Given the description of an element on the screen output the (x, y) to click on. 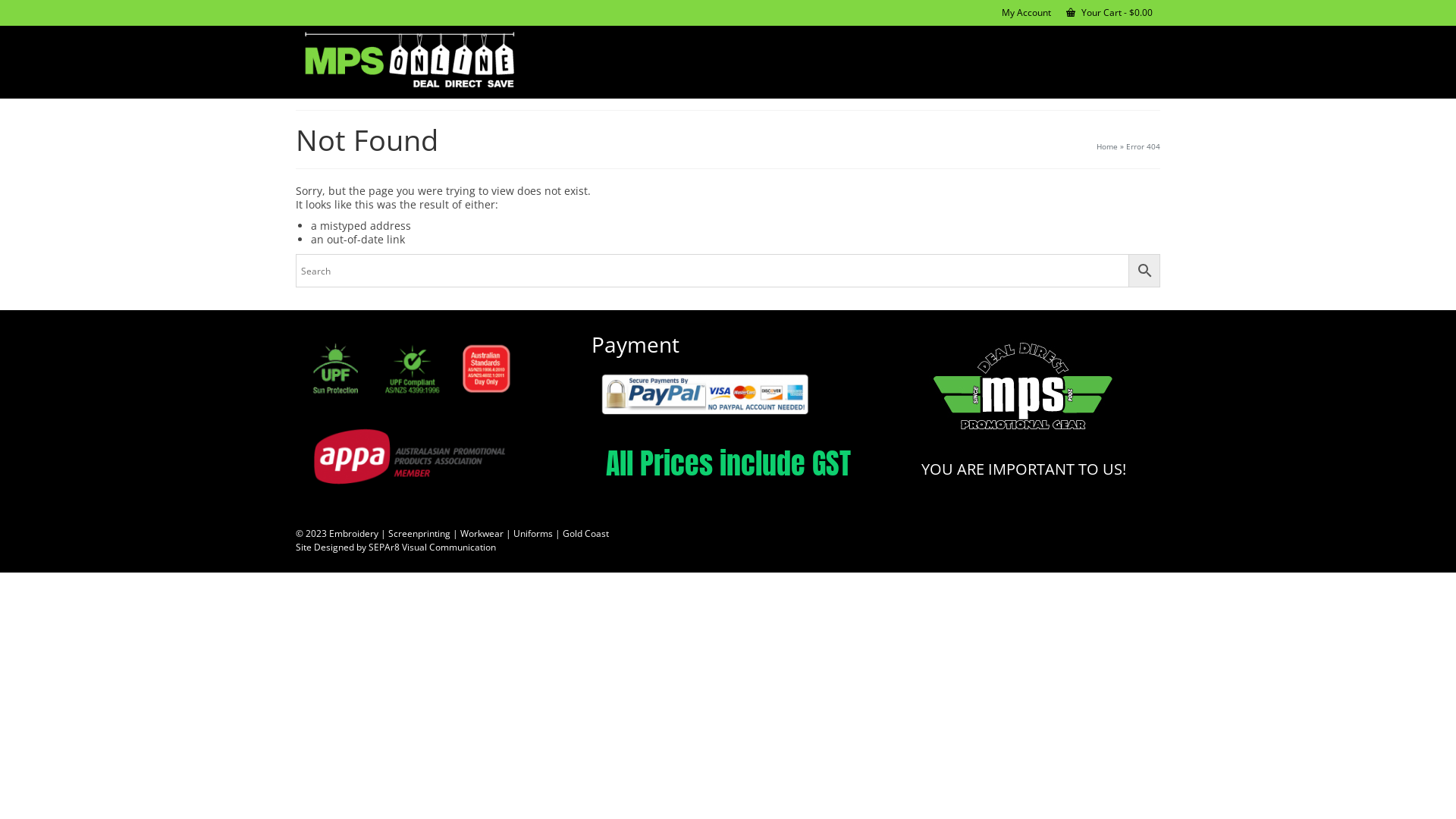
My Account Element type: text (1026, 12)
Your Cart - $0.00 Element type: text (1109, 12)
Home Element type: text (1106, 146)
SEPAr8 Visual Communication Element type: text (431, 546)
